Given the description of an element on the screen output the (x, y) to click on. 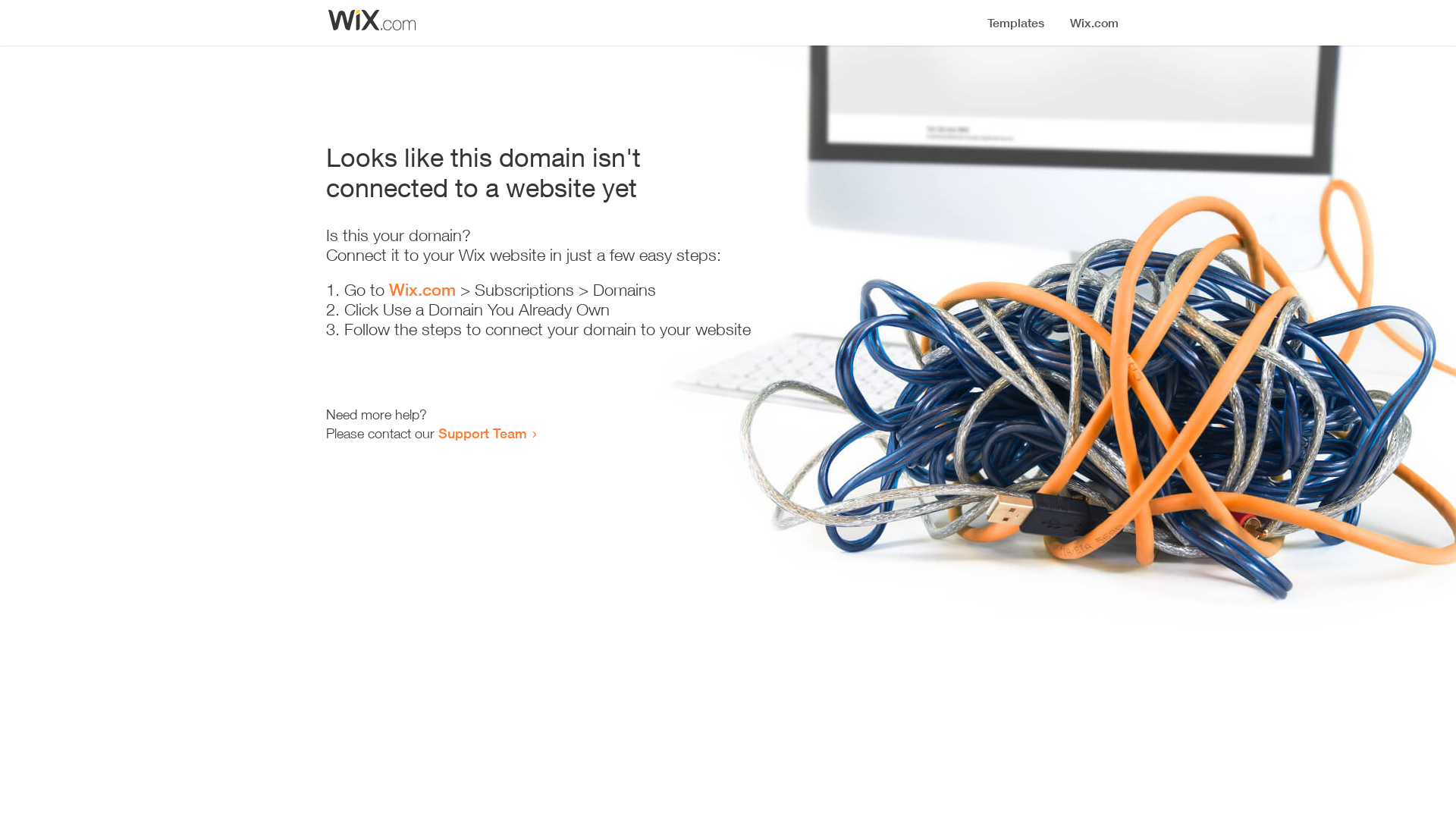
Support Team Element type: text (482, 432)
Wix.com Element type: text (422, 289)
